Given the description of an element on the screen output the (x, y) to click on. 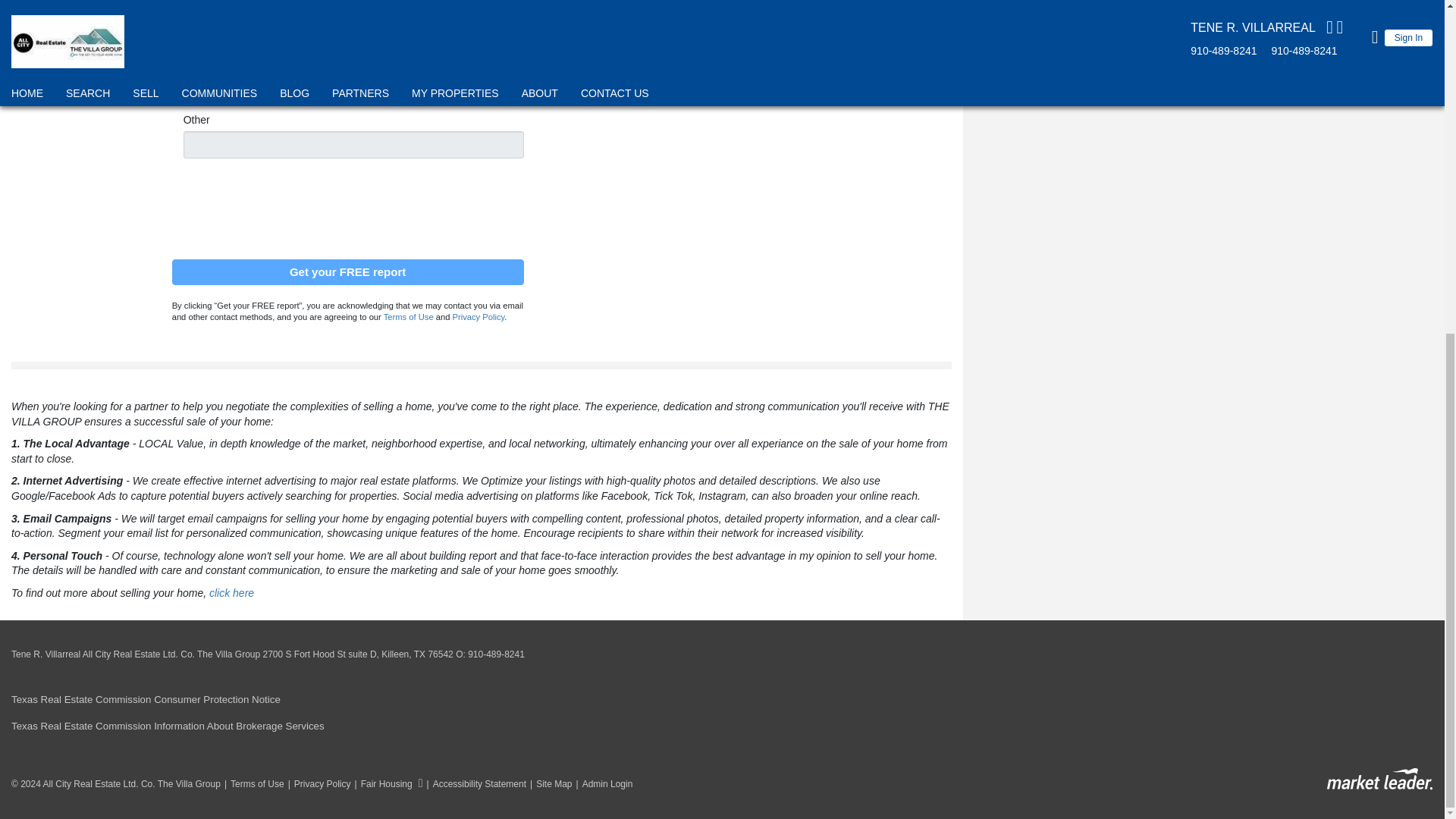
910-489-8241 (495, 654)
Powered By Market Leader (1379, 779)
Mobile (496, 24)
Zoom (188, 52)
GoogleMeet (188, 97)
Terms of Use (408, 316)
click here (231, 592)
Facetime (188, 81)
